Given the description of an element on the screen output the (x, y) to click on. 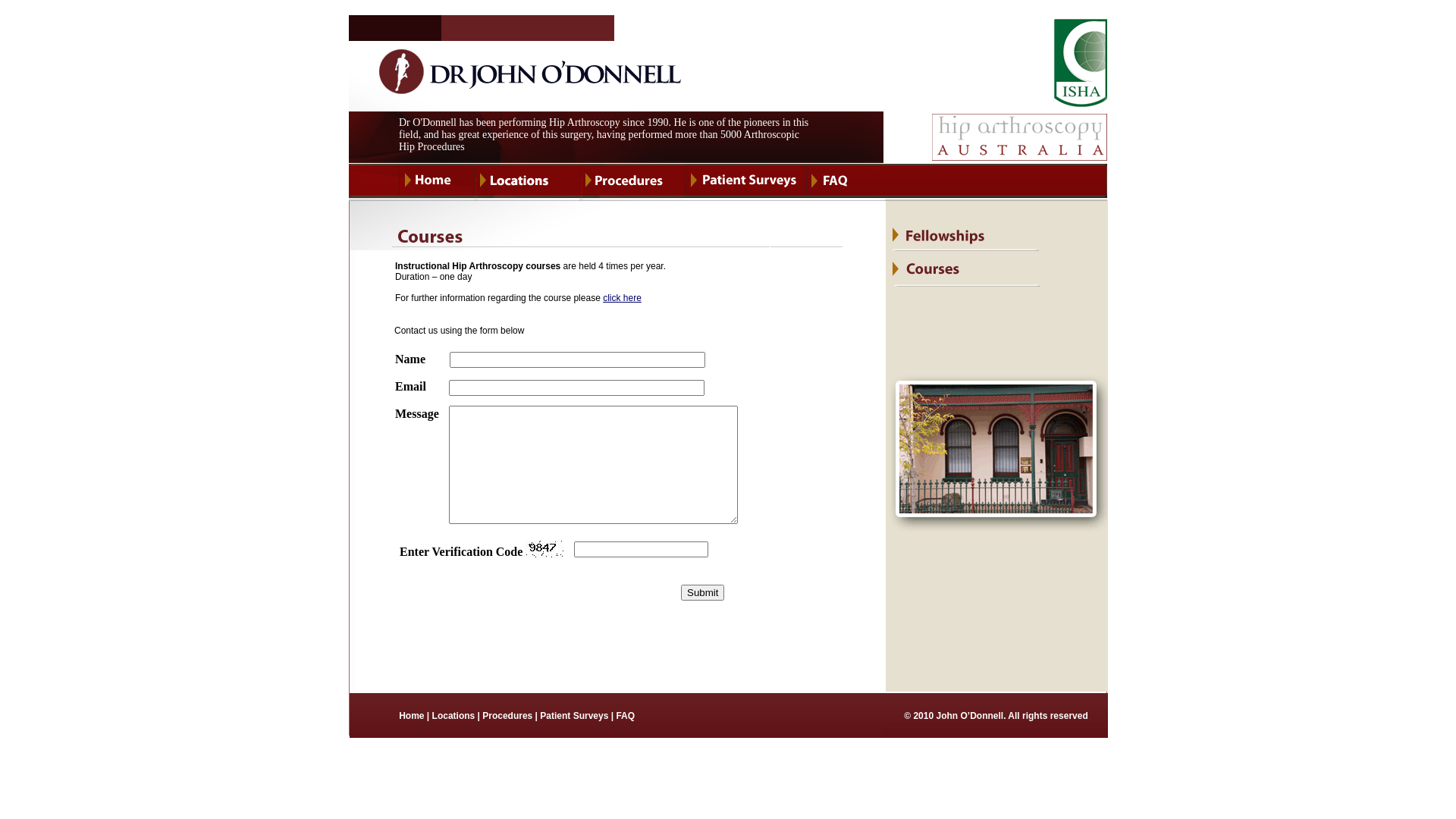
Procedures Element type: text (507, 714)
click here Element type: text (621, 297)
FAQ Element type: text (624, 714)
Patient Surveys Element type: text (572, 714)
Submit Element type: text (702, 592)
Locations Element type: text (453, 714)
Home Element type: text (410, 714)
